Given the description of an element on the screen output the (x, y) to click on. 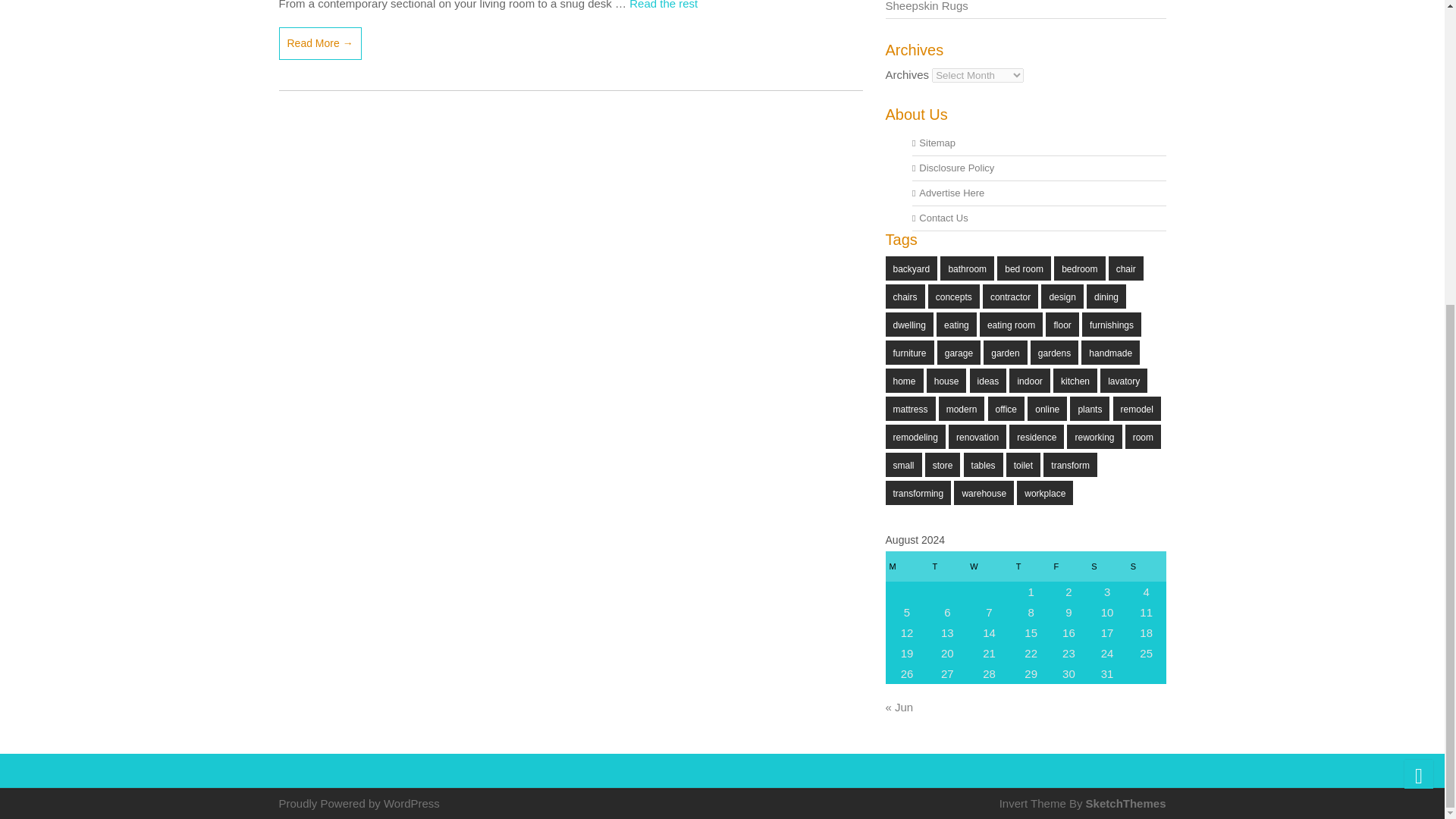
Sunday (1146, 566)
Wednesday (988, 566)
Monday (906, 566)
Saturday (1106, 566)
Thursday (1030, 566)
Tuesday (947, 566)
Friday (1068, 566)
Back To Top (1418, 296)
